Given the description of an element on the screen output the (x, y) to click on. 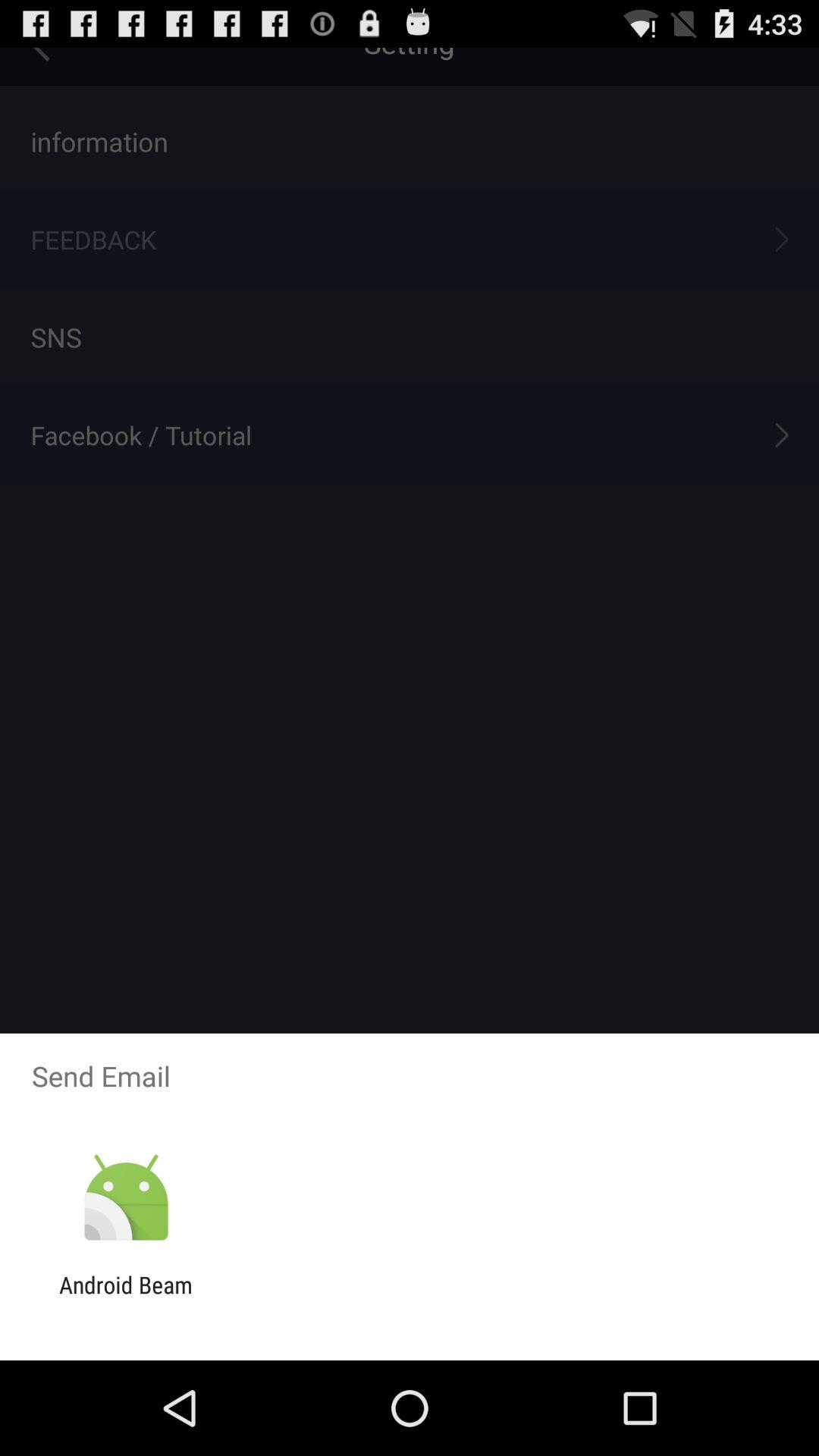
scroll until the android beam icon (125, 1298)
